Given the description of an element on the screen output the (x, y) to click on. 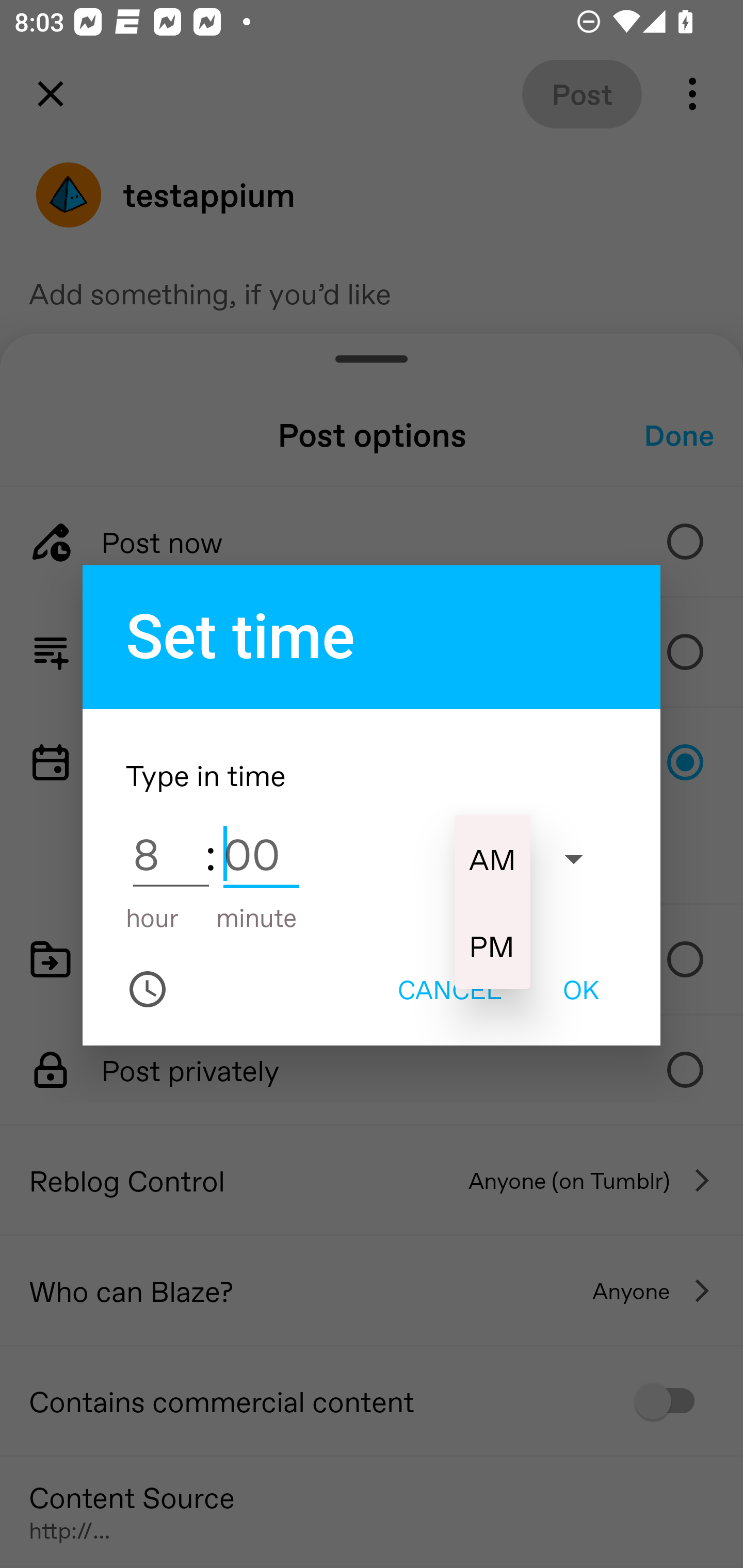
AM (492, 858)
PM (492, 945)
